Given the description of an element on the screen output the (x, y) to click on. 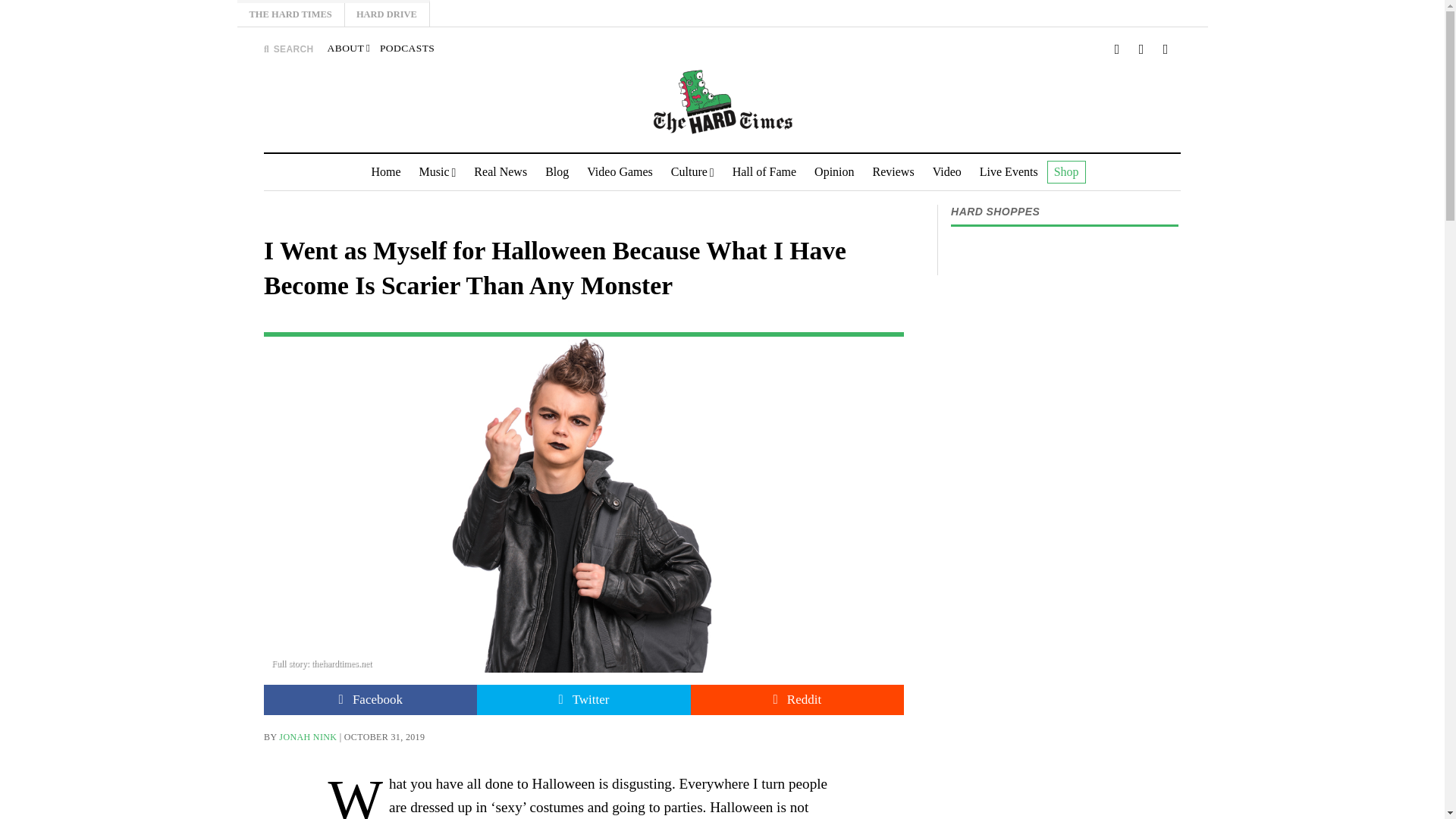
ABOUT (349, 48)
HARD DRIVE (386, 14)
Home (385, 171)
THE HARD TIMES (289, 14)
Posts by Jonah Nink (307, 737)
Real News (499, 171)
PODCASTS (406, 48)
Music (437, 171)
Search (943, 141)
SEARCH (288, 48)
Video Games (620, 171)
Blog (556, 171)
